Given the description of an element on the screen output the (x, y) to click on. 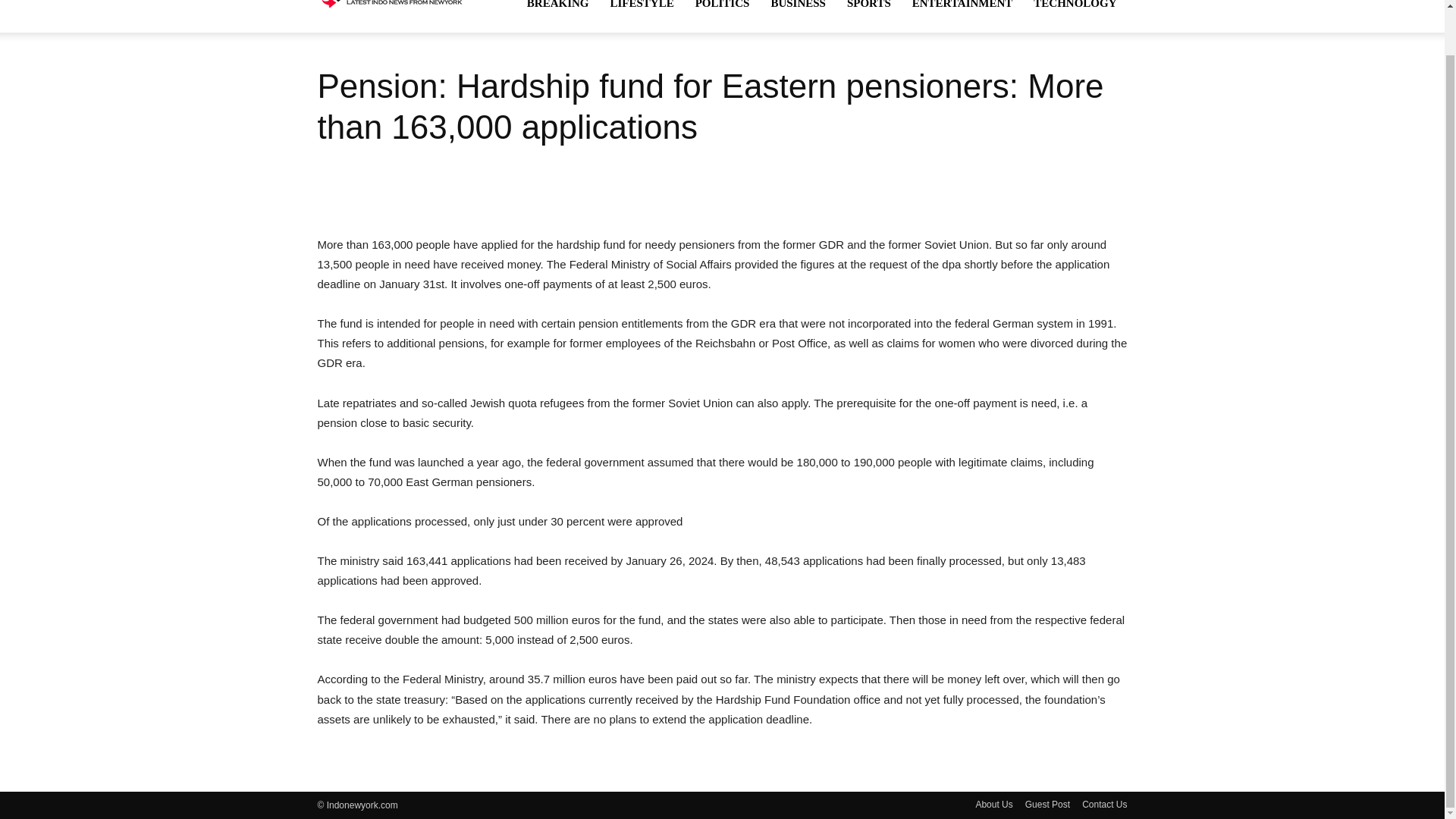
Contact Us (1103, 804)
POLITICS (722, 16)
About Us (993, 804)
ENTERTAINMENT (962, 16)
TECHNOLOGY (1074, 16)
SPORTS (868, 16)
BREAKING (557, 16)
Guest Post (1047, 804)
BUSINESS (797, 16)
LIFESTYLE (641, 16)
